Given the description of an element on the screen output the (x, y) to click on. 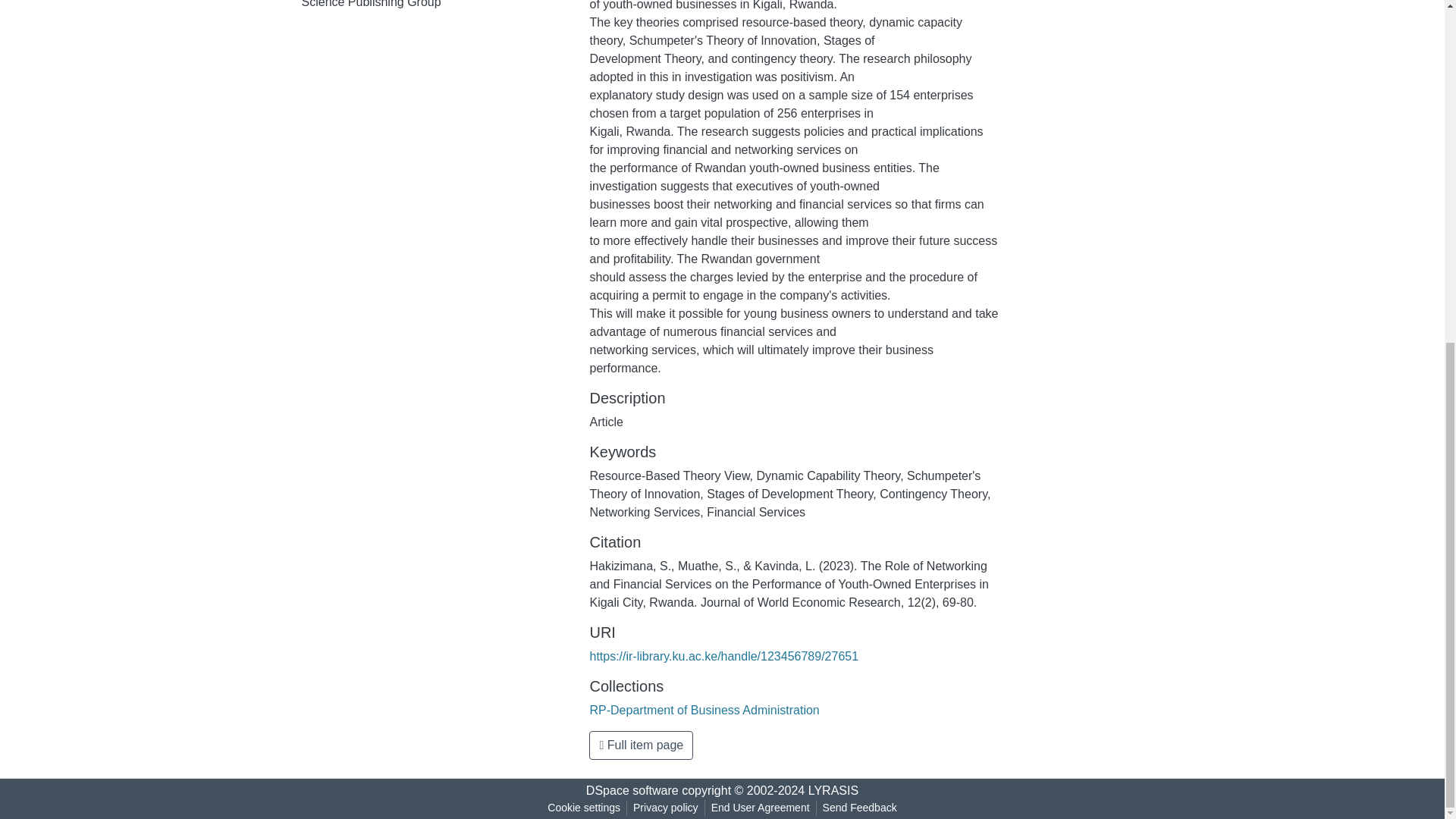
Send Feedback (859, 807)
Privacy policy (665, 807)
DSpace software (632, 789)
RP-Department of Business Administration (703, 709)
Cookie settings (583, 807)
Full item page (641, 745)
End User Agreement (759, 807)
LYRASIS (833, 789)
